Given the description of an element on the screen output the (x, y) to click on. 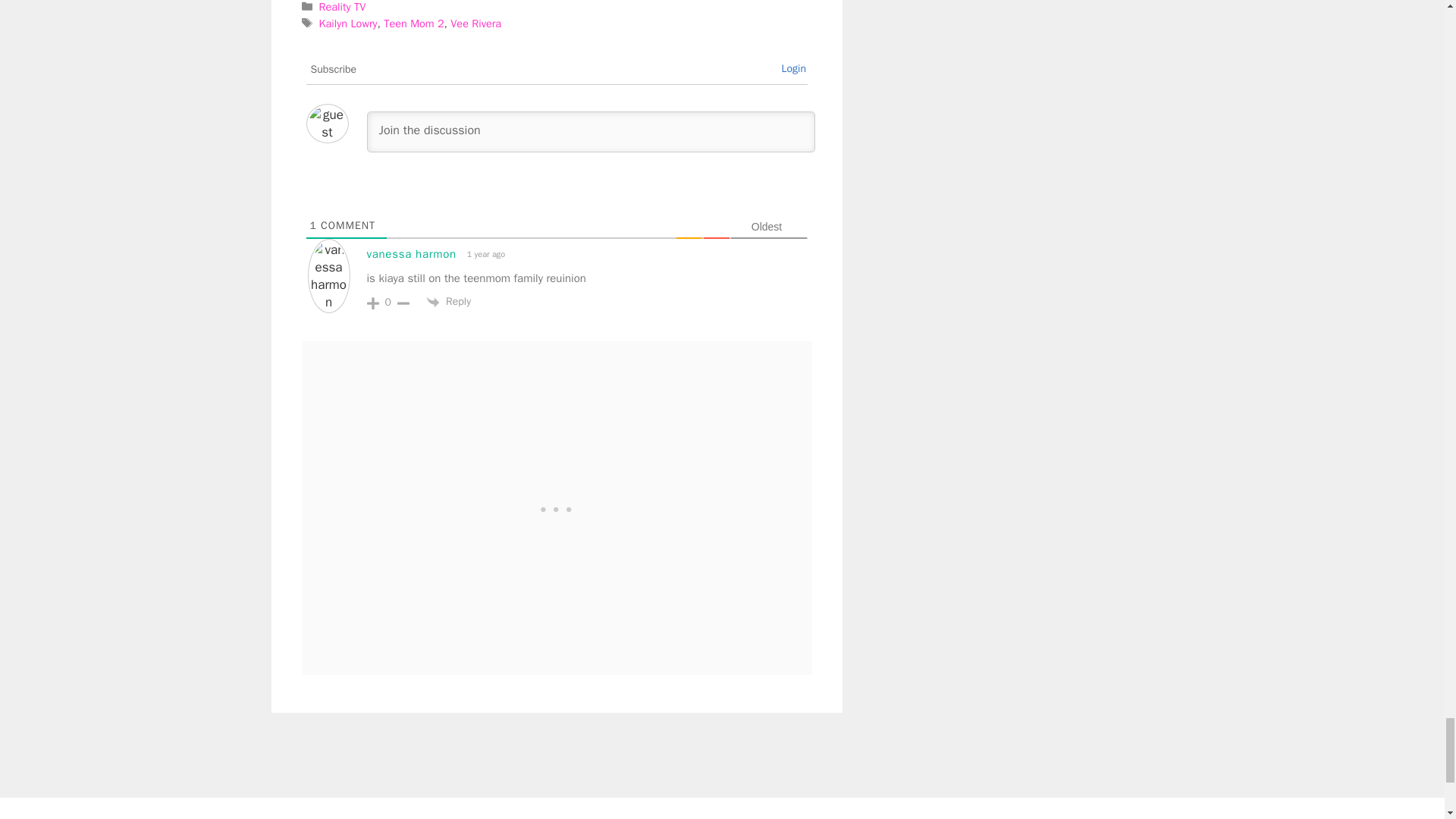
Reality TV (342, 6)
Login (793, 68)
Vee Rivera (474, 23)
14th July 2023 6:17 pm EDT (484, 254)
Teen Mom 2 (414, 23)
0 (387, 302)
Kailyn Lowry (347, 23)
